Given the description of an element on the screen output the (x, y) to click on. 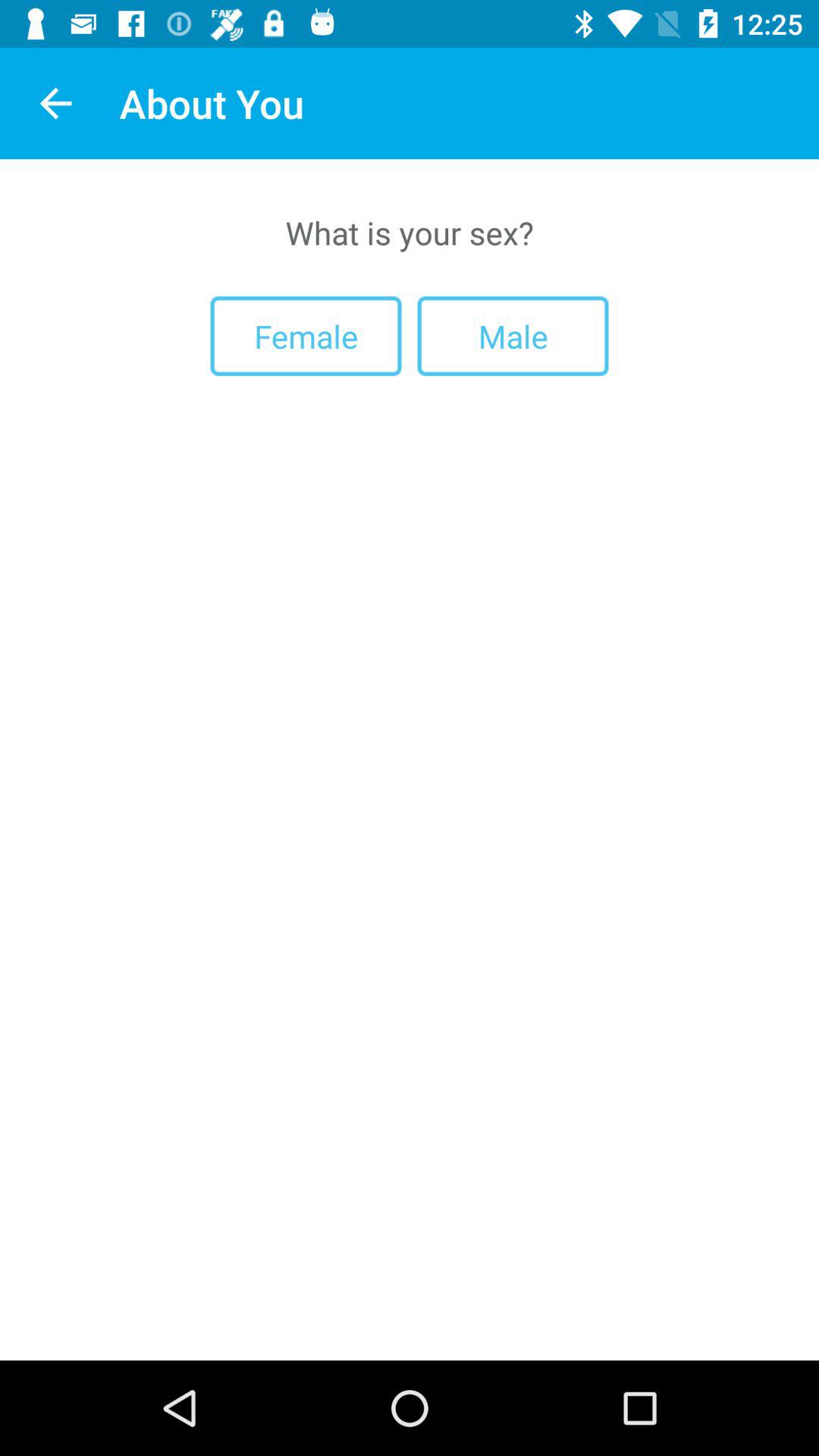
select female item (305, 335)
